Given the description of an element on the screen output the (x, y) to click on. 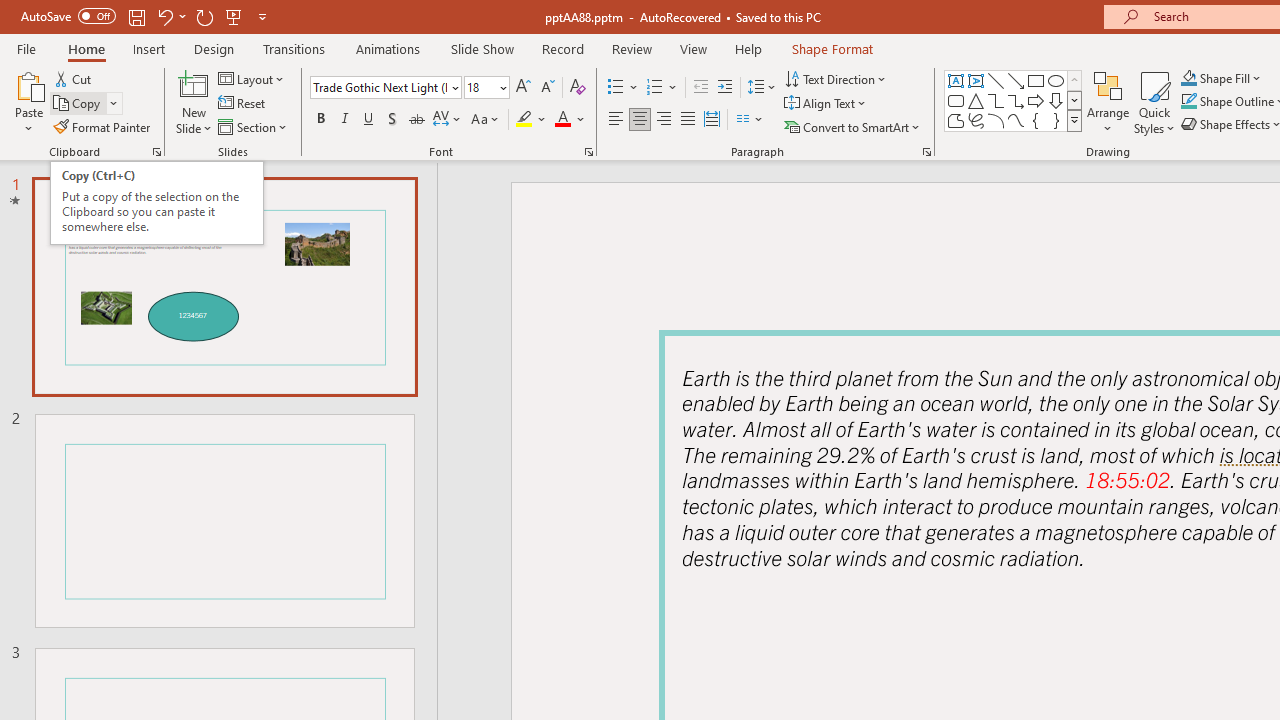
Shape Fill Aqua, Accent 2 (1188, 78)
